Given the description of an element on the screen output the (x, y) to click on. 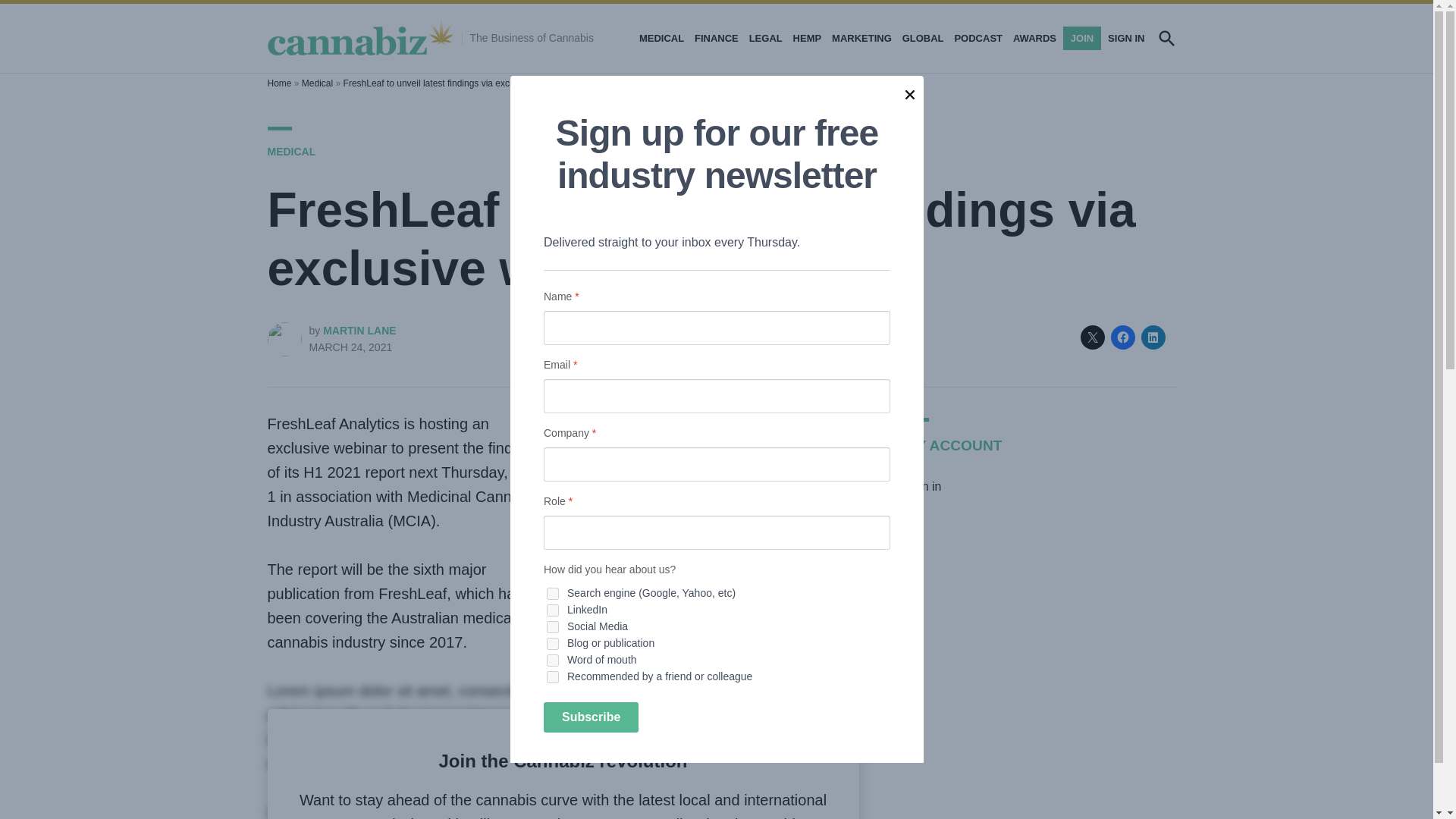
Home (278, 82)
JOIN (1081, 37)
GLOBAL (922, 37)
MARTIN LANE (359, 330)
SIGN IN (1123, 37)
AWARDS (1034, 37)
LEGAL (765, 37)
Click to share on LinkedIn (1152, 337)
MEDICAL (290, 151)
FINANCE (716, 37)
